Given the description of an element on the screen output the (x, y) to click on. 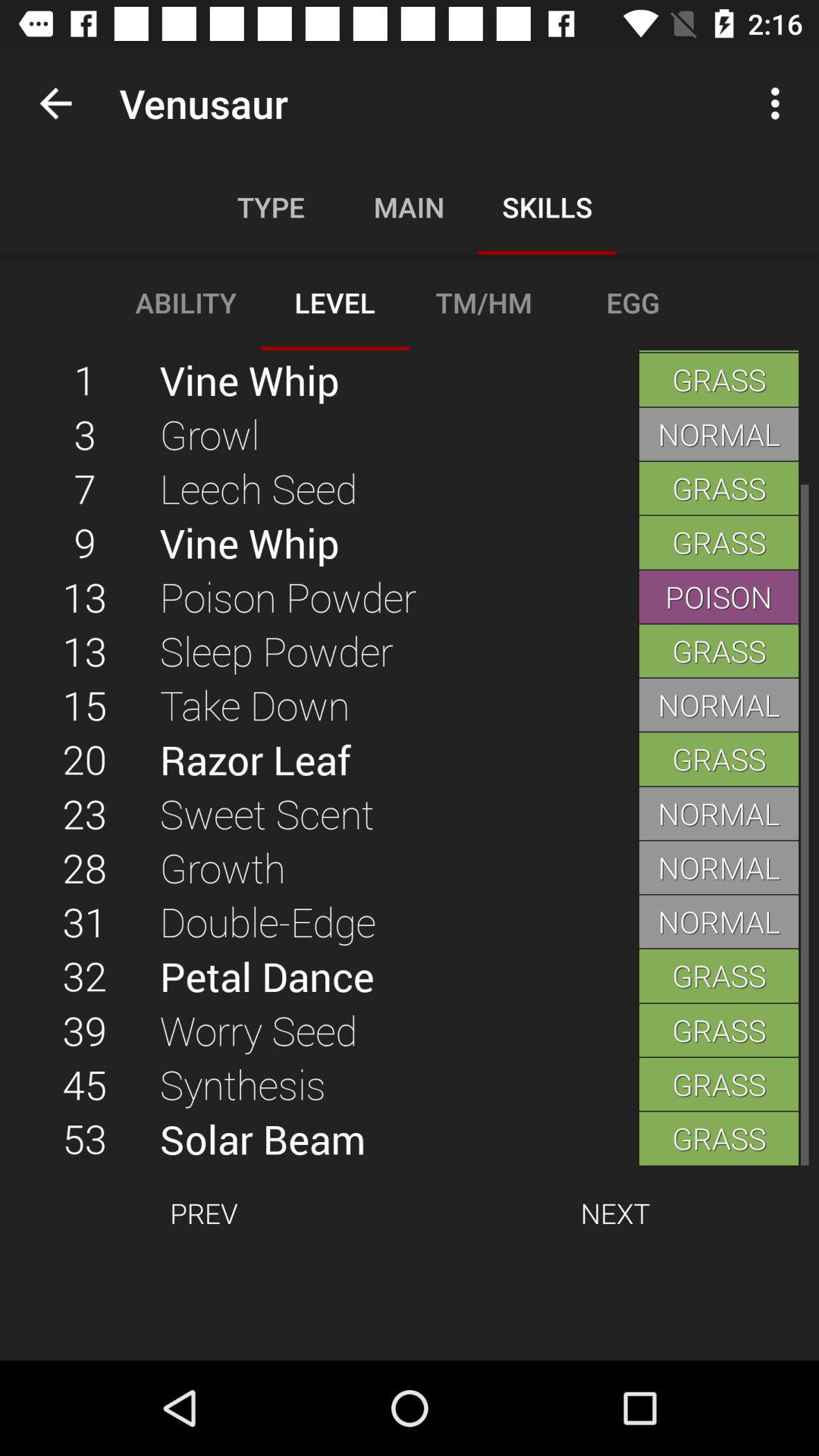
select icon to the left of the growl item (84, 487)
